Given the description of an element on the screen output the (x, y) to click on. 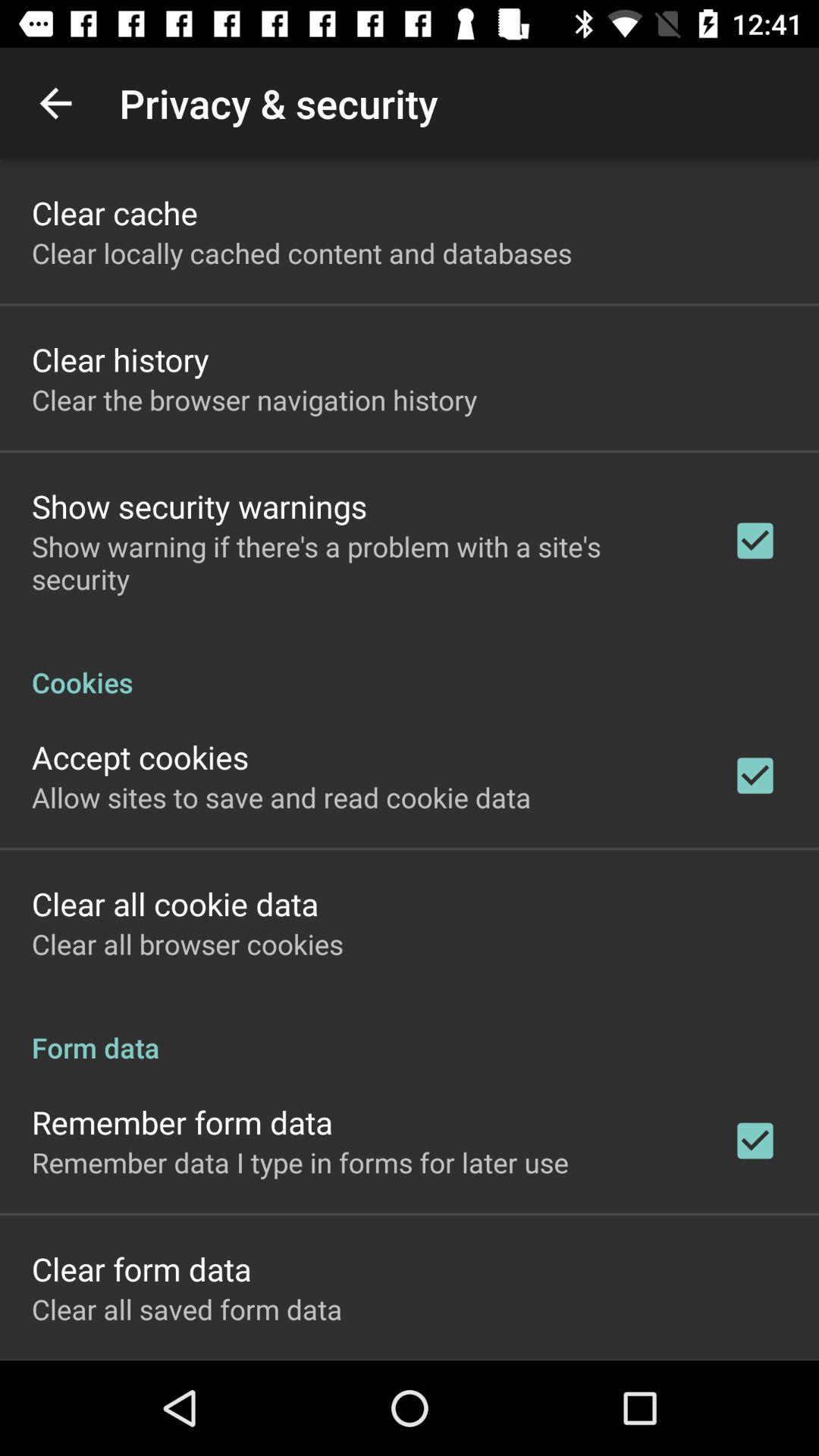
swipe until the accept cookies icon (140, 756)
